Given the description of an element on the screen output the (x, y) to click on. 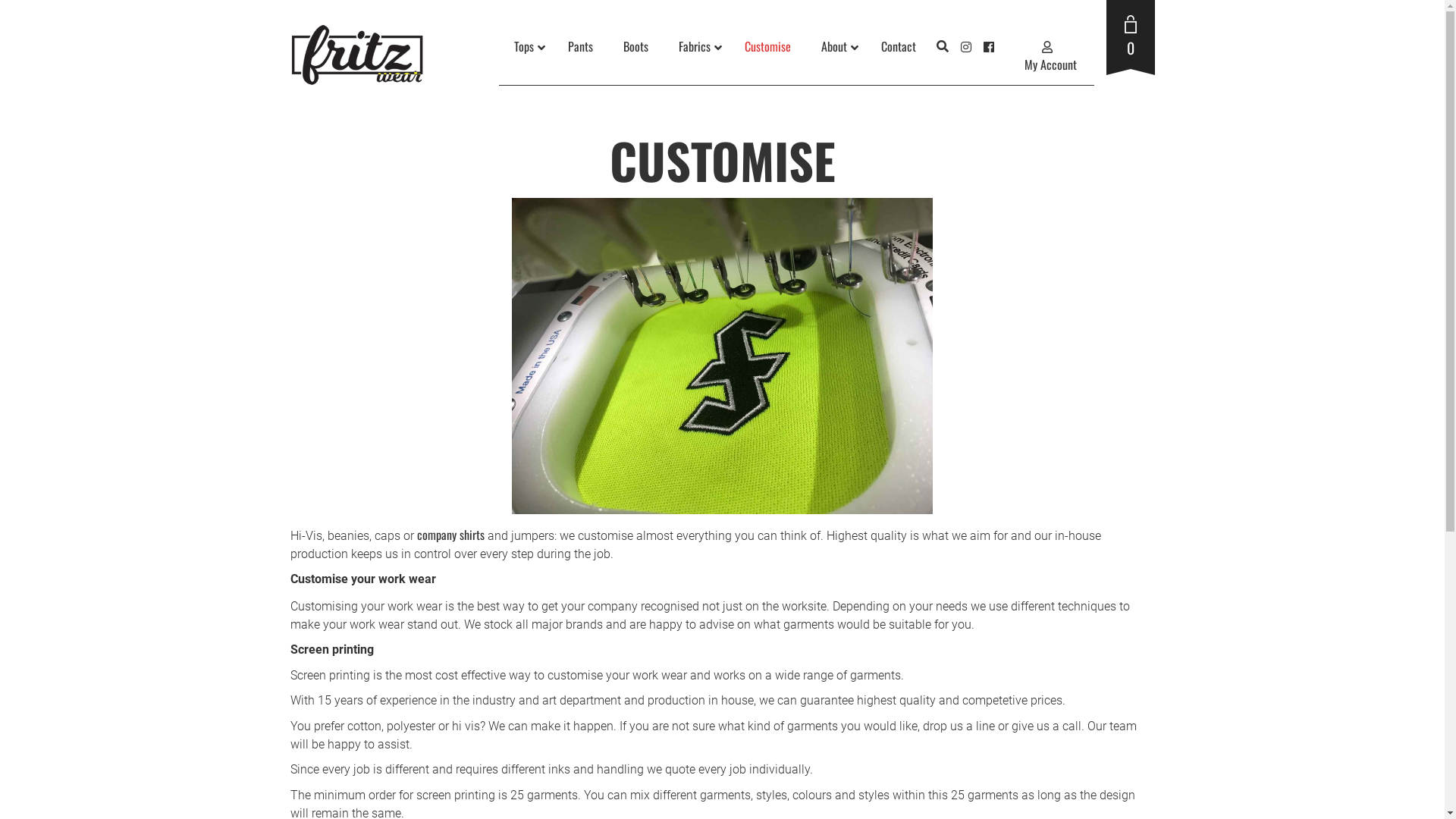
Contact Element type: text (898, 45)
Pants Element type: text (579, 45)
Boots Element type: text (635, 45)
0 Element type: text (1129, 39)
About Element type: text (835, 45)
Fabrics Element type: text (695, 45)
Customise Element type: text (767, 45)
company shirts Element type: text (450, 534)
embroidery Element type: hover (721, 355)
My Account Element type: text (1047, 54)
Tops Element type: text (525, 45)
